Given the description of an element on the screen output the (x, y) to click on. 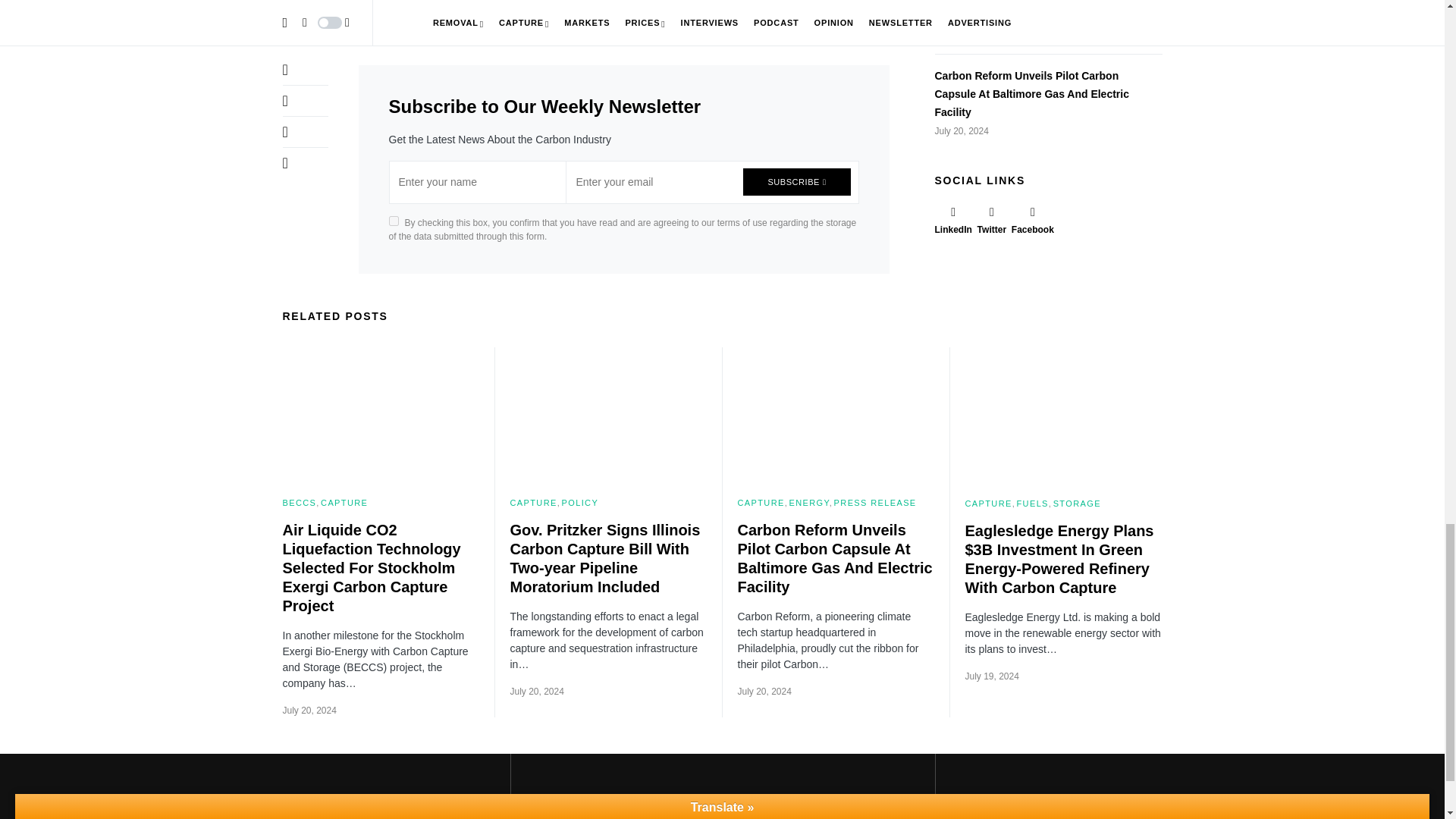
on (392, 220)
